Given the description of an element on the screen output the (x, y) to click on. 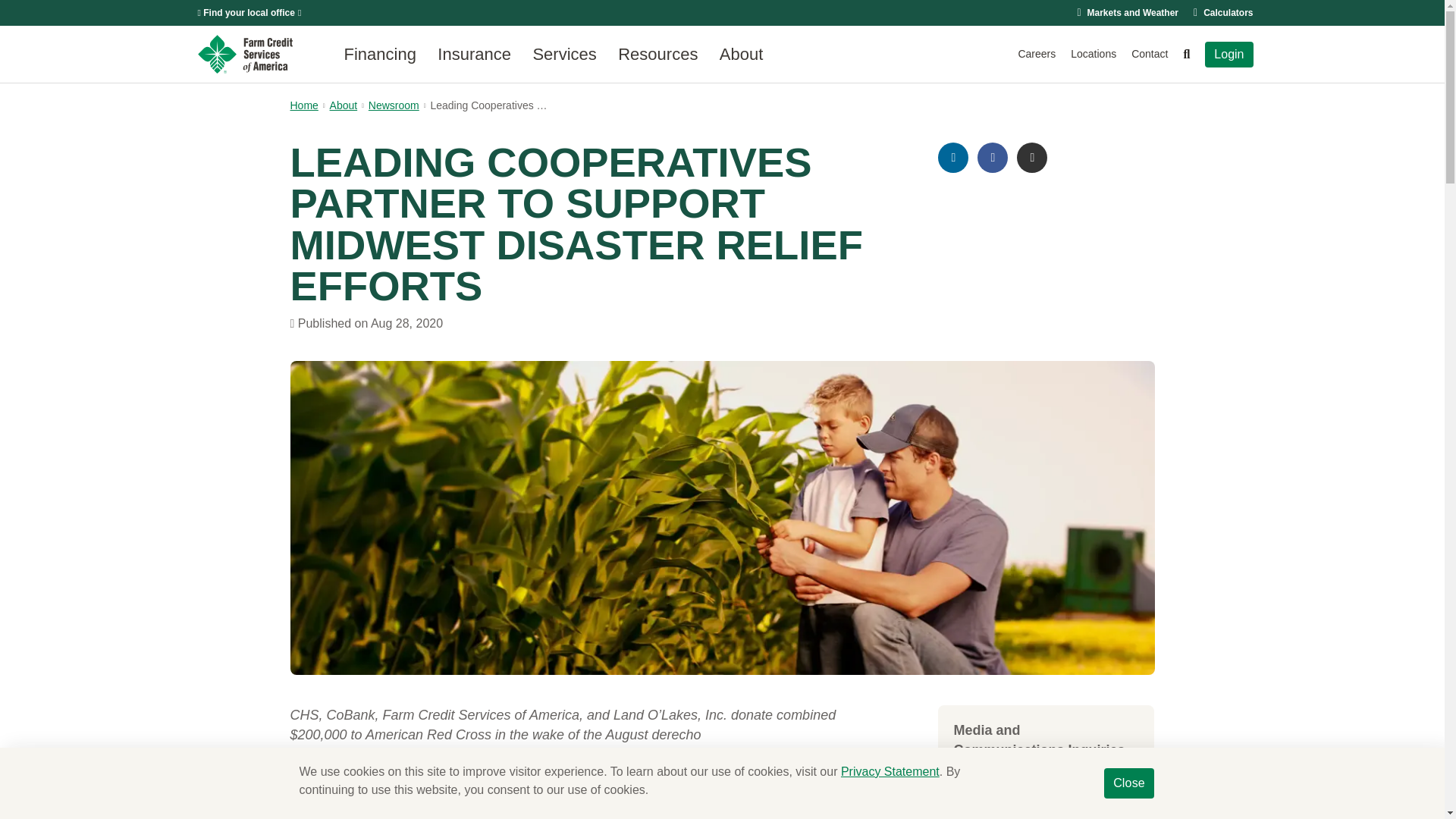
Markets and Weather (1133, 12)
More information about your local office (248, 12)
Search (1186, 54)
Calculators (1228, 12)
